Given the description of an element on the screen output the (x, y) to click on. 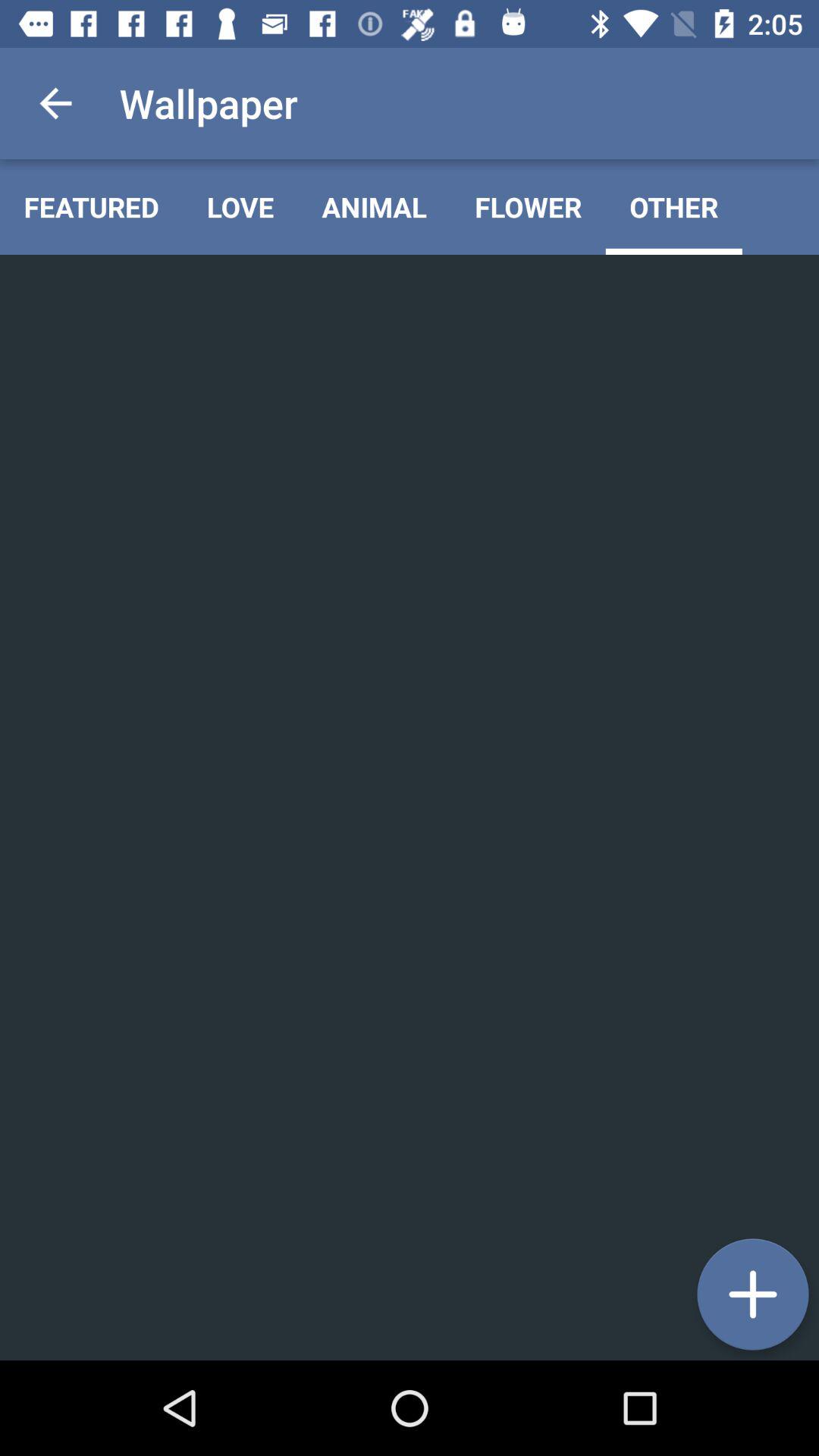
press the item next to the other item (527, 206)
